Given the description of an element on the screen output the (x, y) to click on. 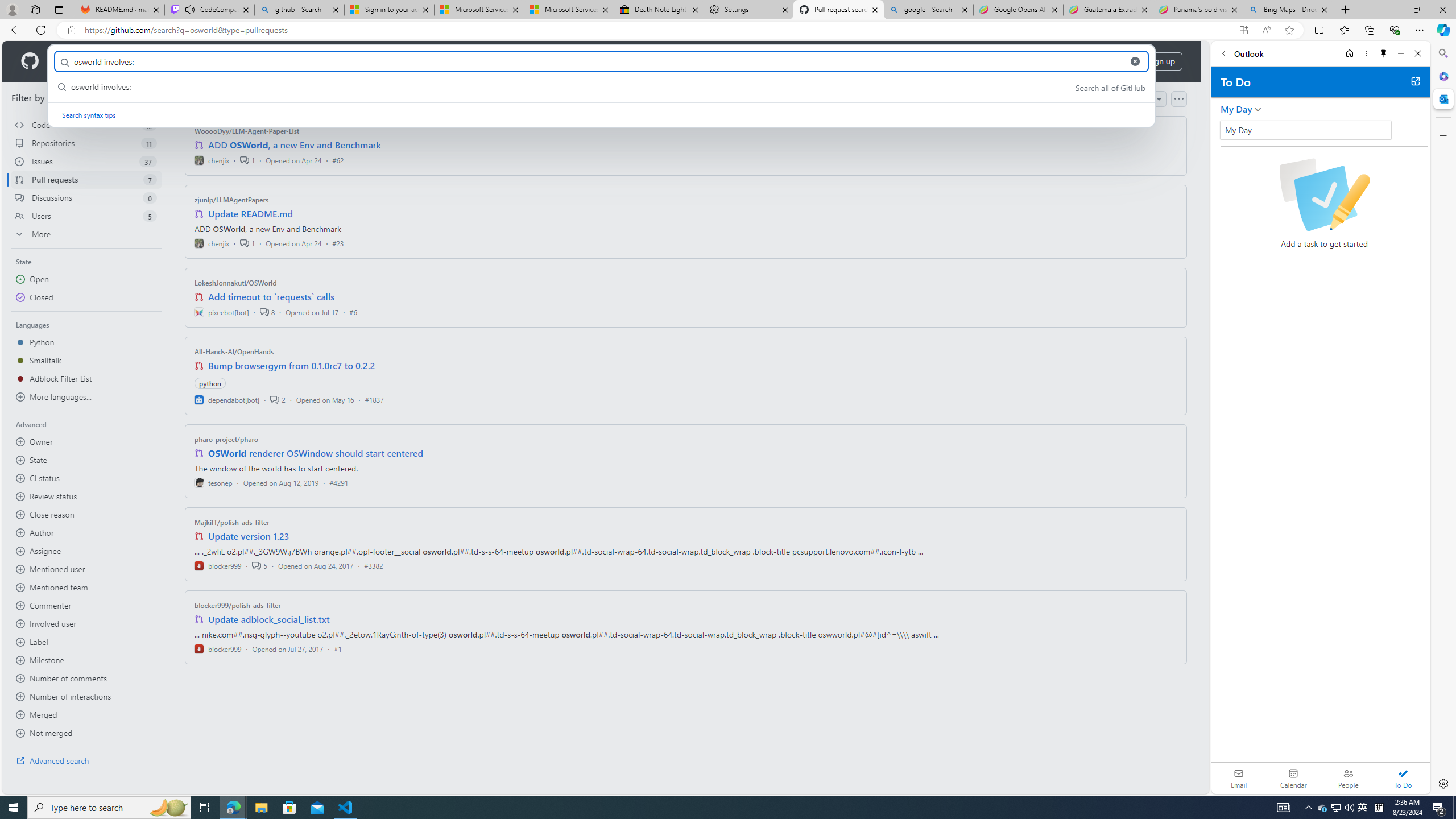
#1837 (374, 398)
#3382 (373, 565)
Microsoft Services Agreement (568, 9)
Calendar. Date today is 22 (1293, 777)
